Given the description of an element on the screen output the (x, y) to click on. 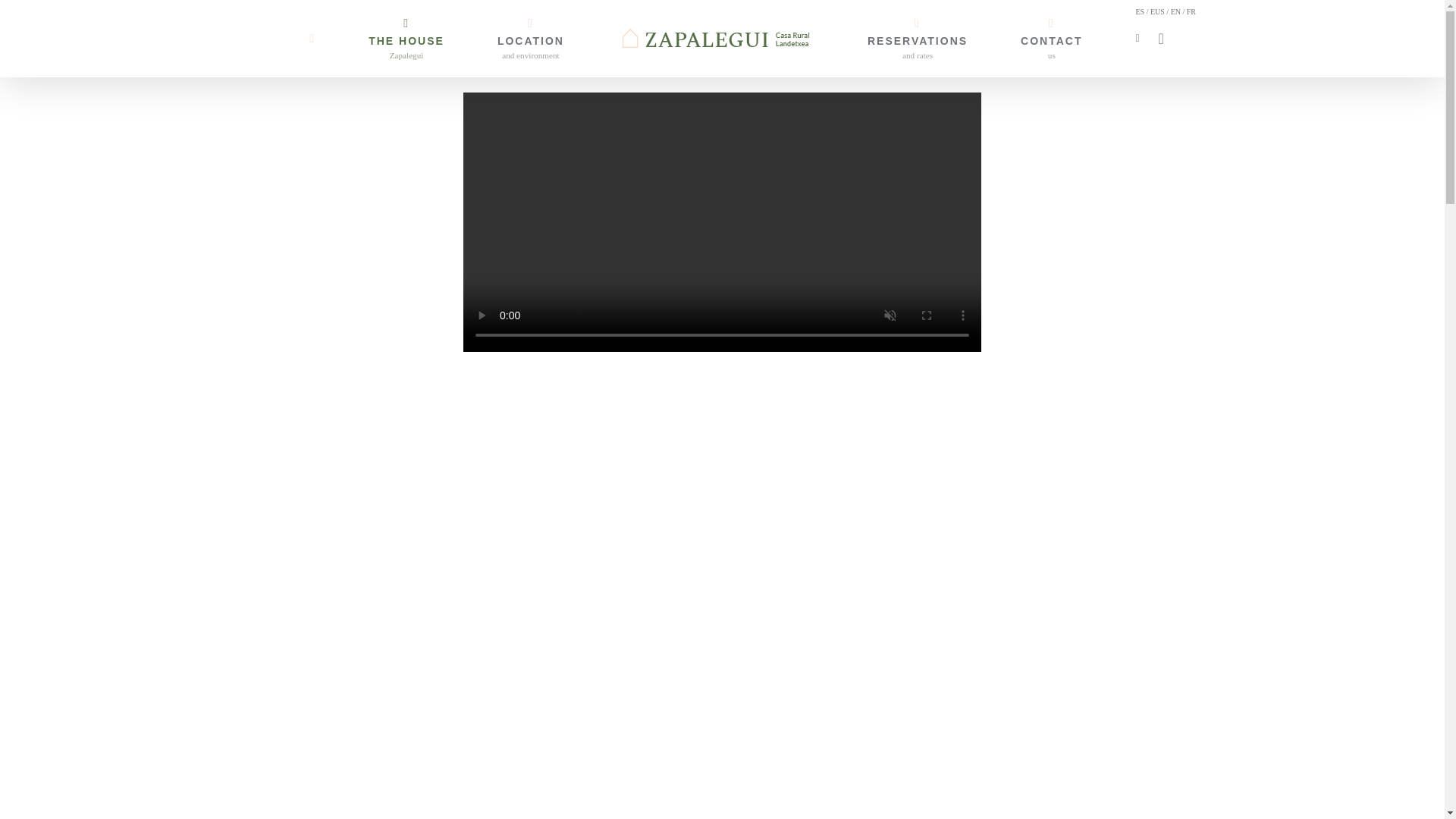
Toggle Sliding Bar (1050, 38)
